Given the description of an element on the screen output the (x, y) to click on. 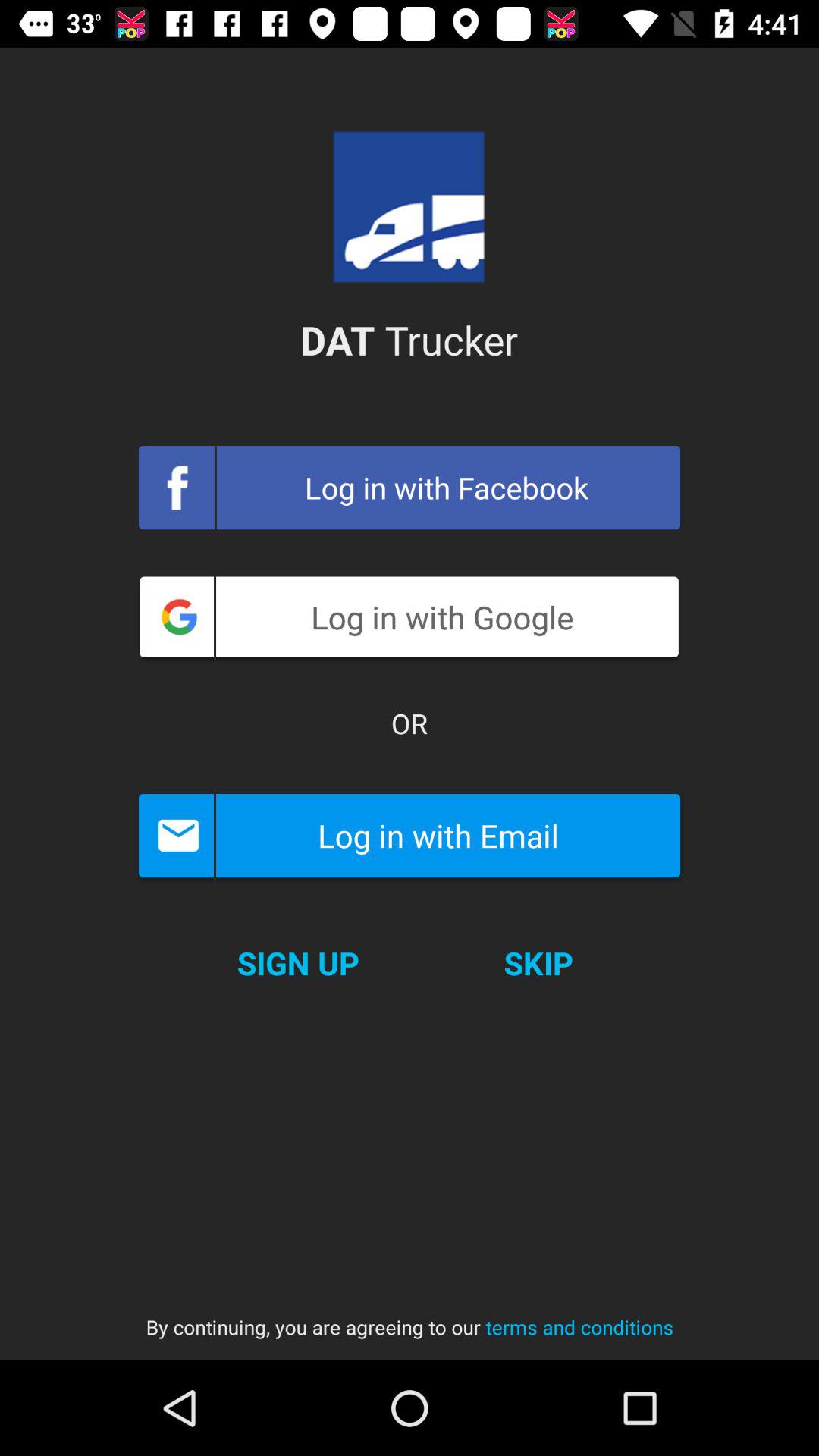
choose the icon below sign up item (409, 1312)
